Given the description of an element on the screen output the (x, y) to click on. 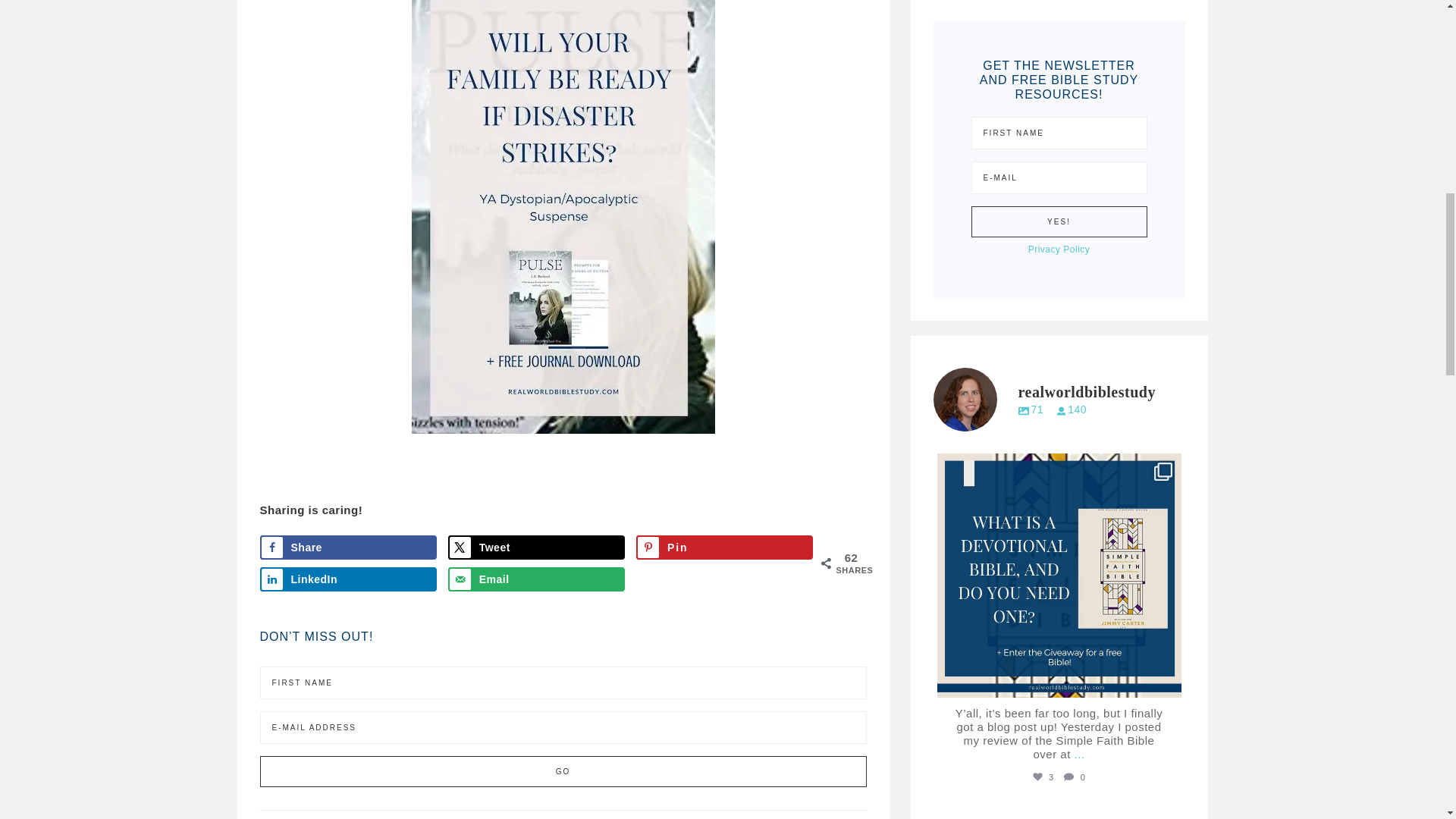
LinkedIn (347, 579)
Tweet (537, 547)
Go (562, 771)
Share on Facebook (347, 547)
Pin (724, 547)
Share on X (537, 547)
Send over email (537, 579)
Share on LinkedIn (347, 579)
Share (347, 547)
Email (537, 579)
YES! (1059, 221)
Save to Pinterest (724, 547)
Go (562, 771)
